Given the description of an element on the screen output the (x, y) to click on. 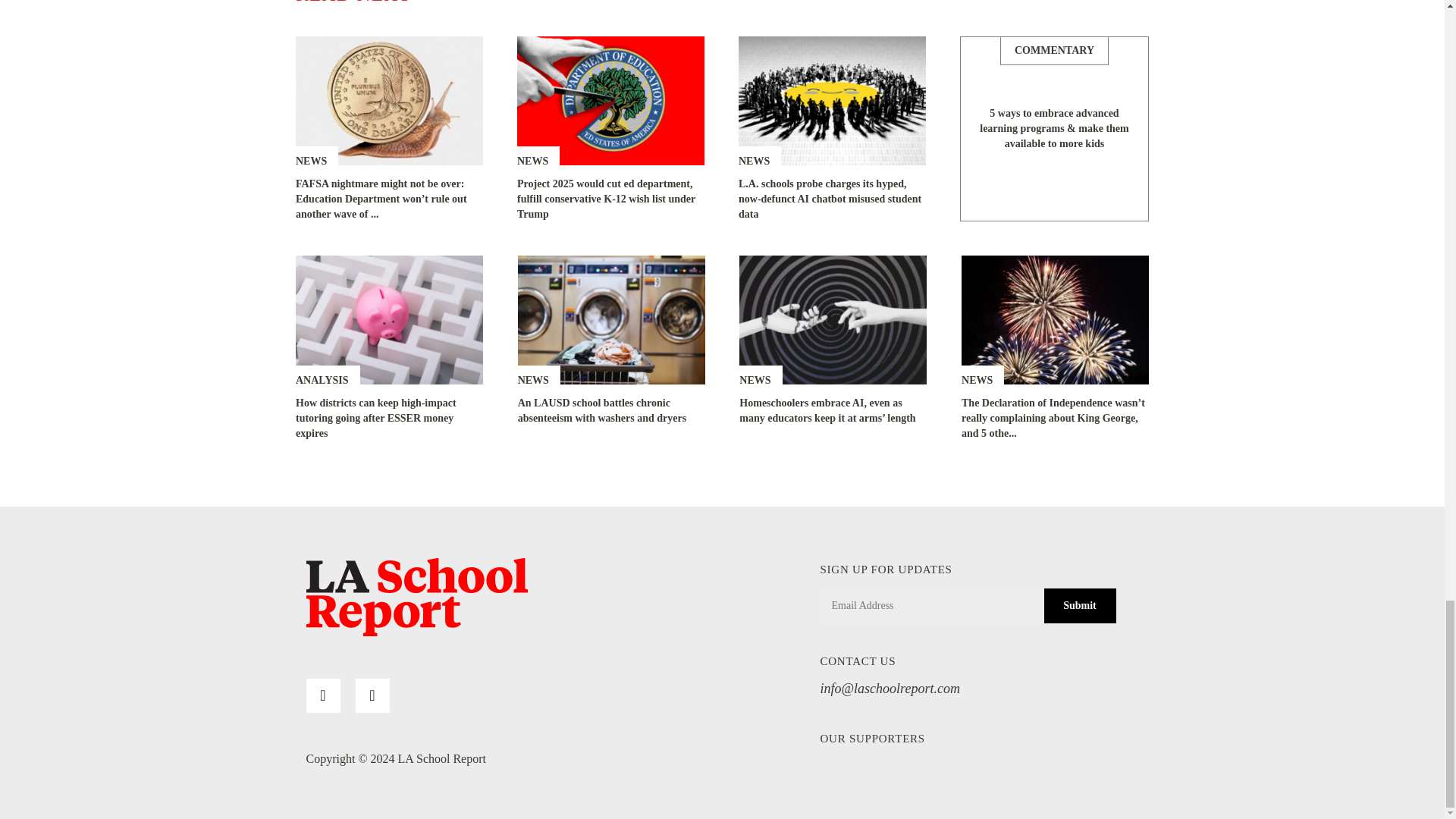
Submit (1079, 605)
